Given the description of an element on the screen output the (x, y) to click on. 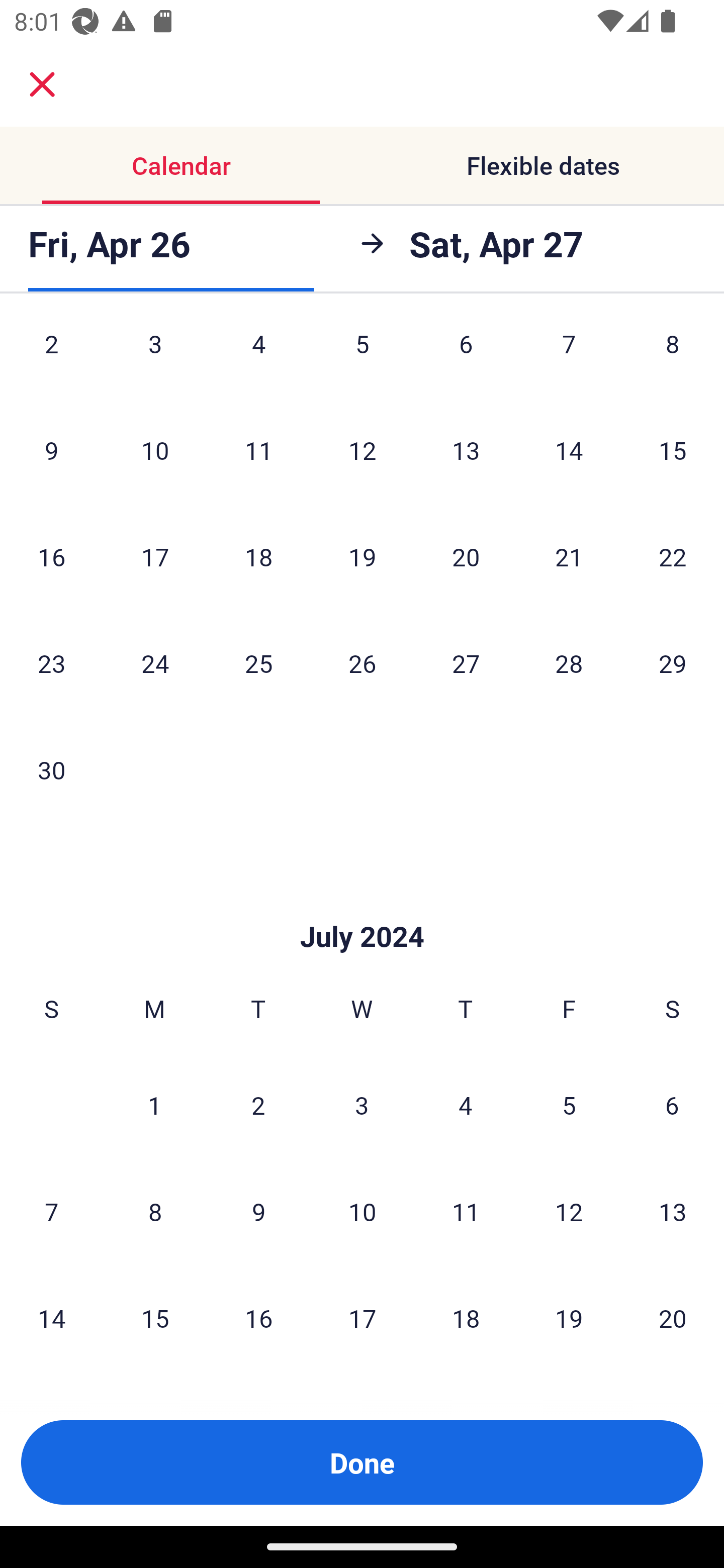
close. (42, 84)
Flexible dates (542, 164)
2 Sunday, June 2, 2024 (51, 358)
3 Monday, June 3, 2024 (155, 358)
4 Tuesday, June 4, 2024 (258, 358)
5 Wednesday, June 5, 2024 (362, 358)
6 Thursday, June 6, 2024 (465, 358)
7 Friday, June 7, 2024 (569, 358)
8 Saturday, June 8, 2024 (672, 358)
9 Sunday, June 9, 2024 (51, 449)
10 Monday, June 10, 2024 (155, 449)
11 Tuesday, June 11, 2024 (258, 449)
12 Wednesday, June 12, 2024 (362, 449)
13 Thursday, June 13, 2024 (465, 449)
14 Friday, June 14, 2024 (569, 449)
15 Saturday, June 15, 2024 (672, 449)
16 Sunday, June 16, 2024 (51, 556)
17 Monday, June 17, 2024 (155, 556)
18 Tuesday, June 18, 2024 (258, 556)
19 Wednesday, June 19, 2024 (362, 556)
20 Thursday, June 20, 2024 (465, 556)
21 Friday, June 21, 2024 (569, 556)
22 Saturday, June 22, 2024 (672, 556)
23 Sunday, June 23, 2024 (51, 663)
24 Monday, June 24, 2024 (155, 663)
25 Tuesday, June 25, 2024 (258, 663)
26 Wednesday, June 26, 2024 (362, 663)
27 Thursday, June 27, 2024 (465, 663)
28 Friday, June 28, 2024 (569, 663)
29 Saturday, June 29, 2024 (672, 663)
30 Sunday, June 30, 2024 (51, 769)
Skip to Done (362, 905)
1 Monday, July 1, 2024 (154, 1105)
2 Tuesday, July 2, 2024 (257, 1105)
3 Wednesday, July 3, 2024 (361, 1105)
4 Thursday, July 4, 2024 (465, 1105)
5 Friday, July 5, 2024 (568, 1105)
6 Saturday, July 6, 2024 (672, 1105)
7 Sunday, July 7, 2024 (51, 1211)
8 Monday, July 8, 2024 (155, 1211)
9 Tuesday, July 9, 2024 (258, 1211)
10 Wednesday, July 10, 2024 (362, 1211)
11 Thursday, July 11, 2024 (465, 1211)
12 Friday, July 12, 2024 (569, 1211)
13 Saturday, July 13, 2024 (672, 1211)
14 Sunday, July 14, 2024 (51, 1317)
15 Monday, July 15, 2024 (155, 1317)
16 Tuesday, July 16, 2024 (258, 1317)
17 Wednesday, July 17, 2024 (362, 1317)
18 Thursday, July 18, 2024 (465, 1317)
19 Friday, July 19, 2024 (569, 1317)
20 Saturday, July 20, 2024 (672, 1317)
Done (361, 1462)
